Given the description of an element on the screen output the (x, y) to click on. 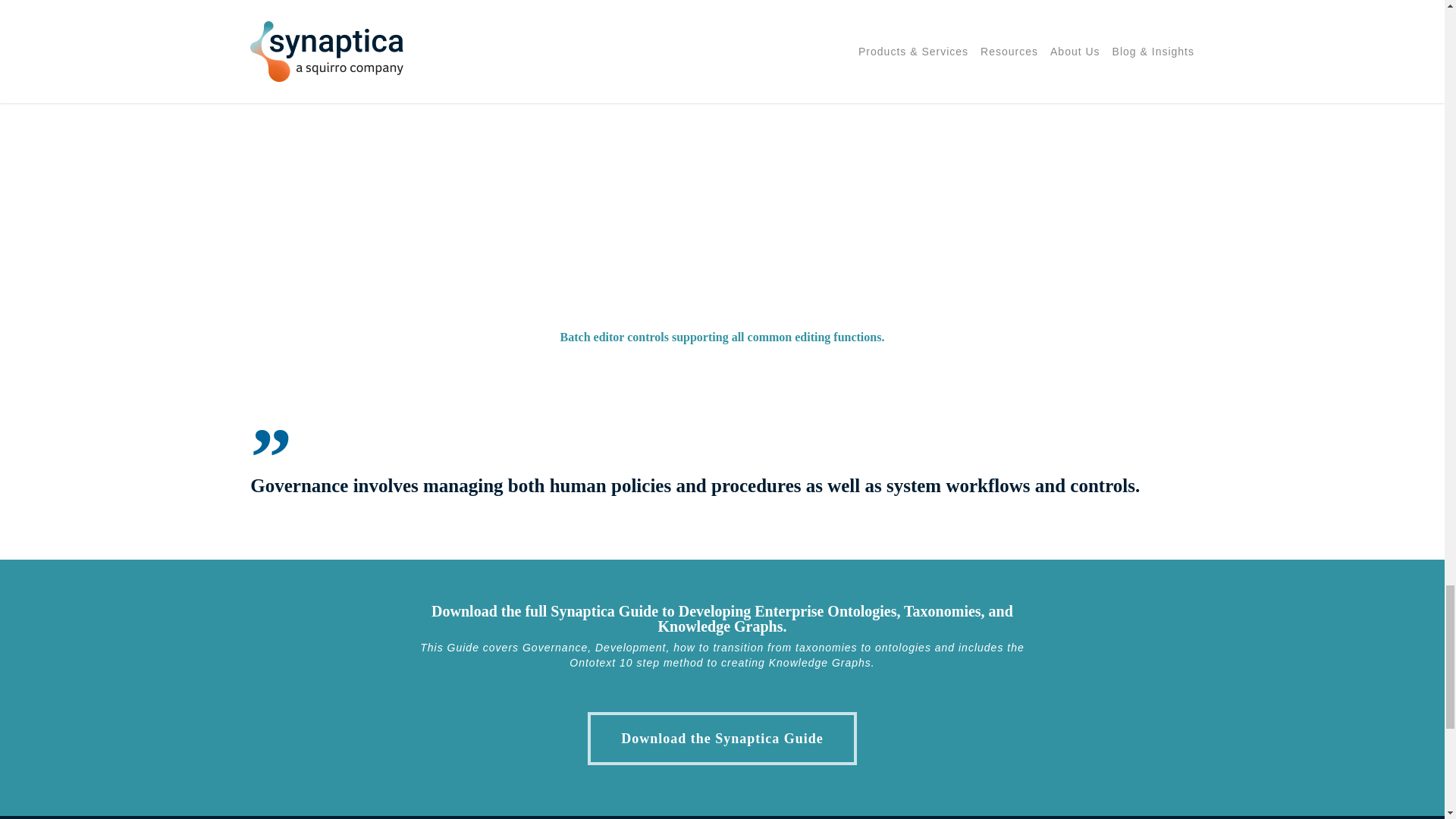
Download the Synaptica Guide (722, 737)
